Given the description of an element on the screen output the (x, y) to click on. 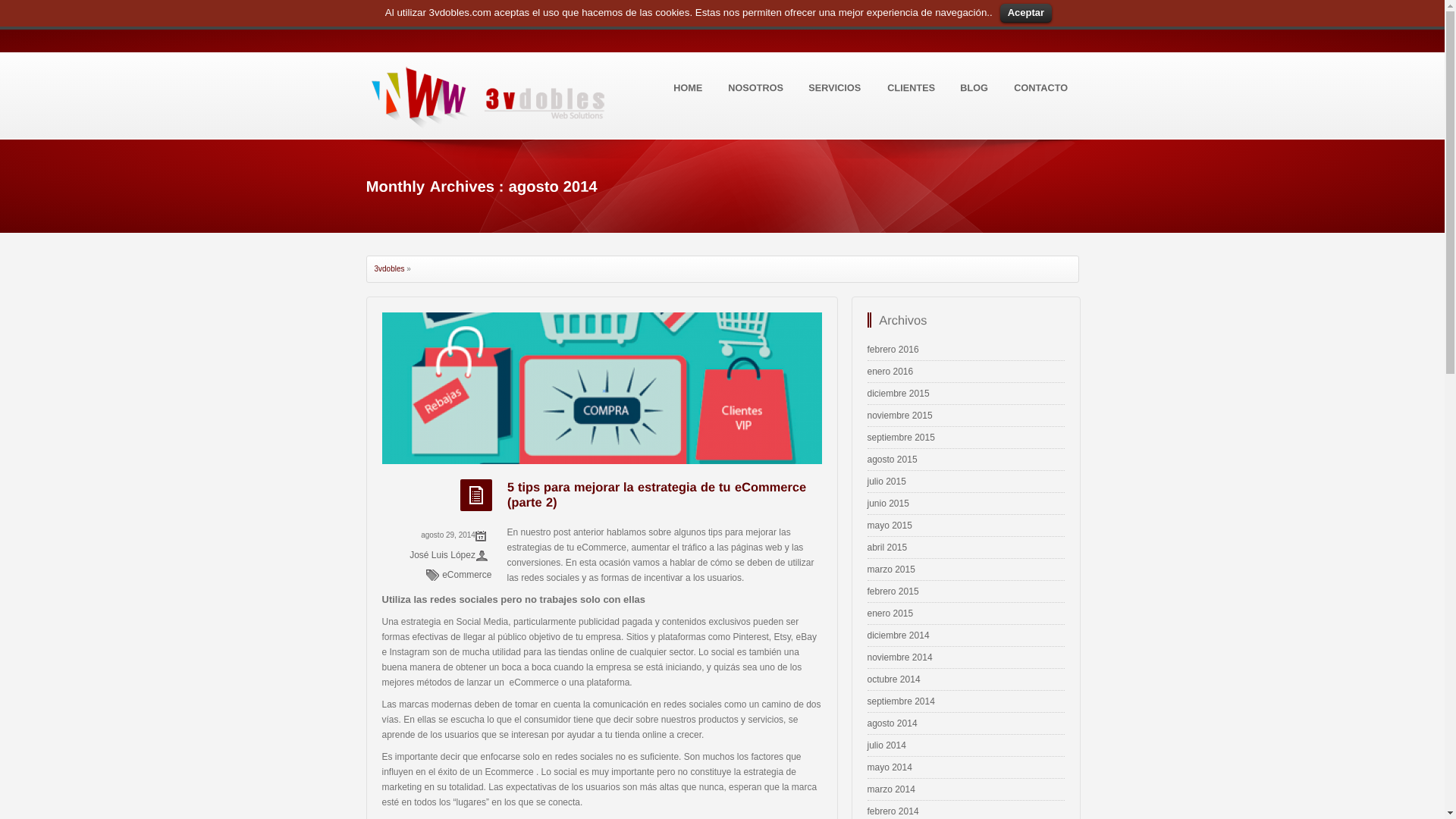
septiembre 2014 Element type: text (901, 701)
agosto 2015 Element type: text (892, 459)
mayo 2014 Element type: text (889, 767)
5 tips para mejorar la estrategia de tu eCommerce (parte 2) Element type: hover (657, 494)
febrero 2014 Element type: text (893, 811)
marzo 2014 Element type: text (891, 789)
diciembre 2014 Element type: text (898, 635)
abril 2015 Element type: text (887, 547)
enero 2016 Element type: text (890, 371)
enero 2015 Element type: text (890, 613)
julio 2015 Element type: text (886, 481)
noviembre 2015 Element type: text (899, 415)
5 tips para mejorar la estrategia de tu eCommerce (parte 2) Element type: hover (602, 387)
julio 2014 Element type: text (886, 745)
octubre 2014 Element type: text (893, 679)
febrero 2016 Element type: text (893, 349)
marzo 2015 Element type: text (891, 569)
septiembre 2015 Element type: text (901, 437)
noviembre 2014 Element type: text (899, 657)
eCommerce Element type: text (466, 574)
febrero 2015 Element type: text (893, 591)
diciembre 2015 Element type: text (898, 393)
junio 2015 Element type: text (888, 503)
agosto 2014 Element type: text (892, 723)
3vdobles Element type: text (389, 268)
mayo 2015 Element type: text (889, 525)
Aceptar Element type: text (1025, 12)
